Given the description of an element on the screen output the (x, y) to click on. 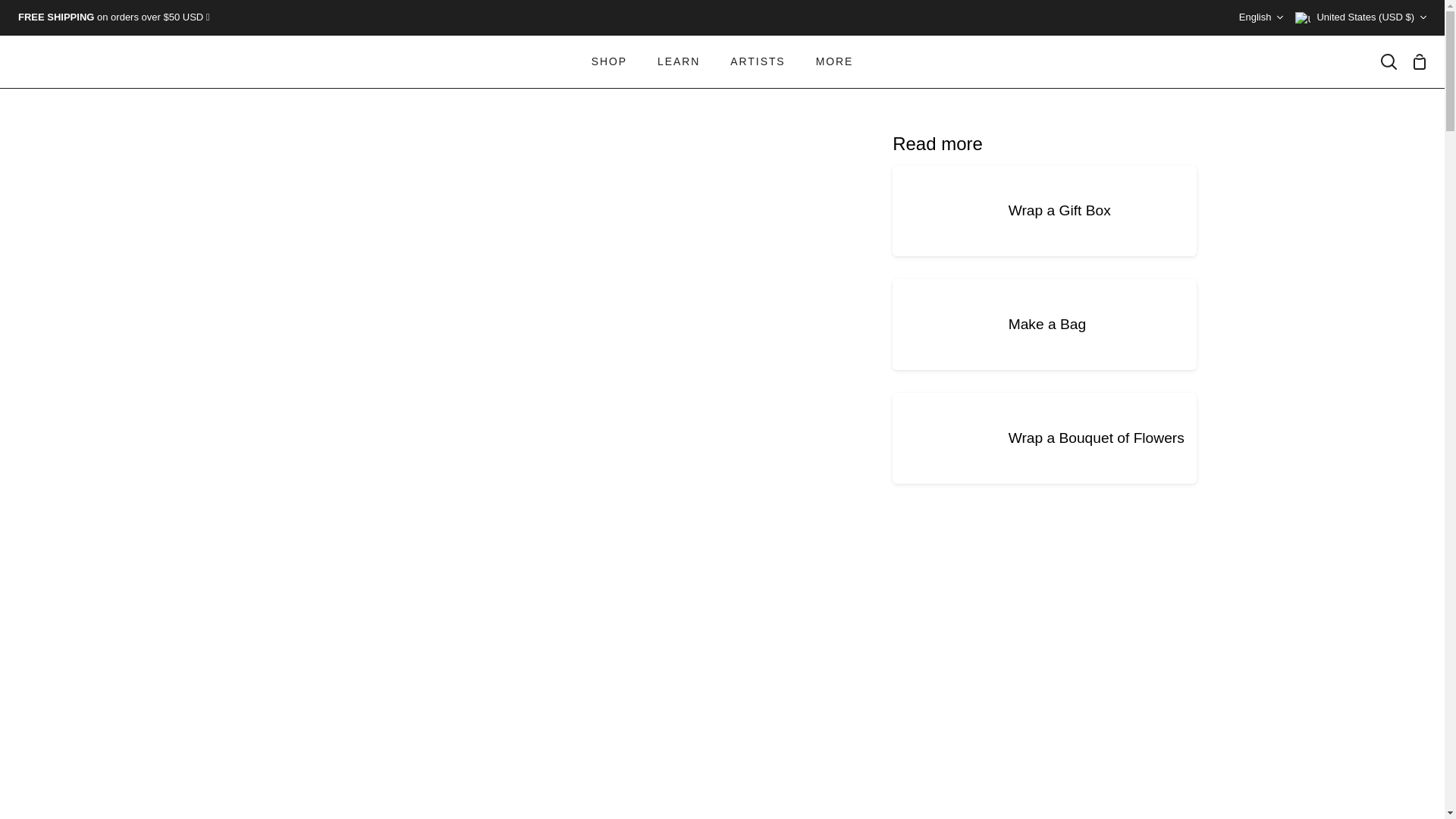
English (1261, 17)
